Given the description of an element on the screen output the (x, y) to click on. 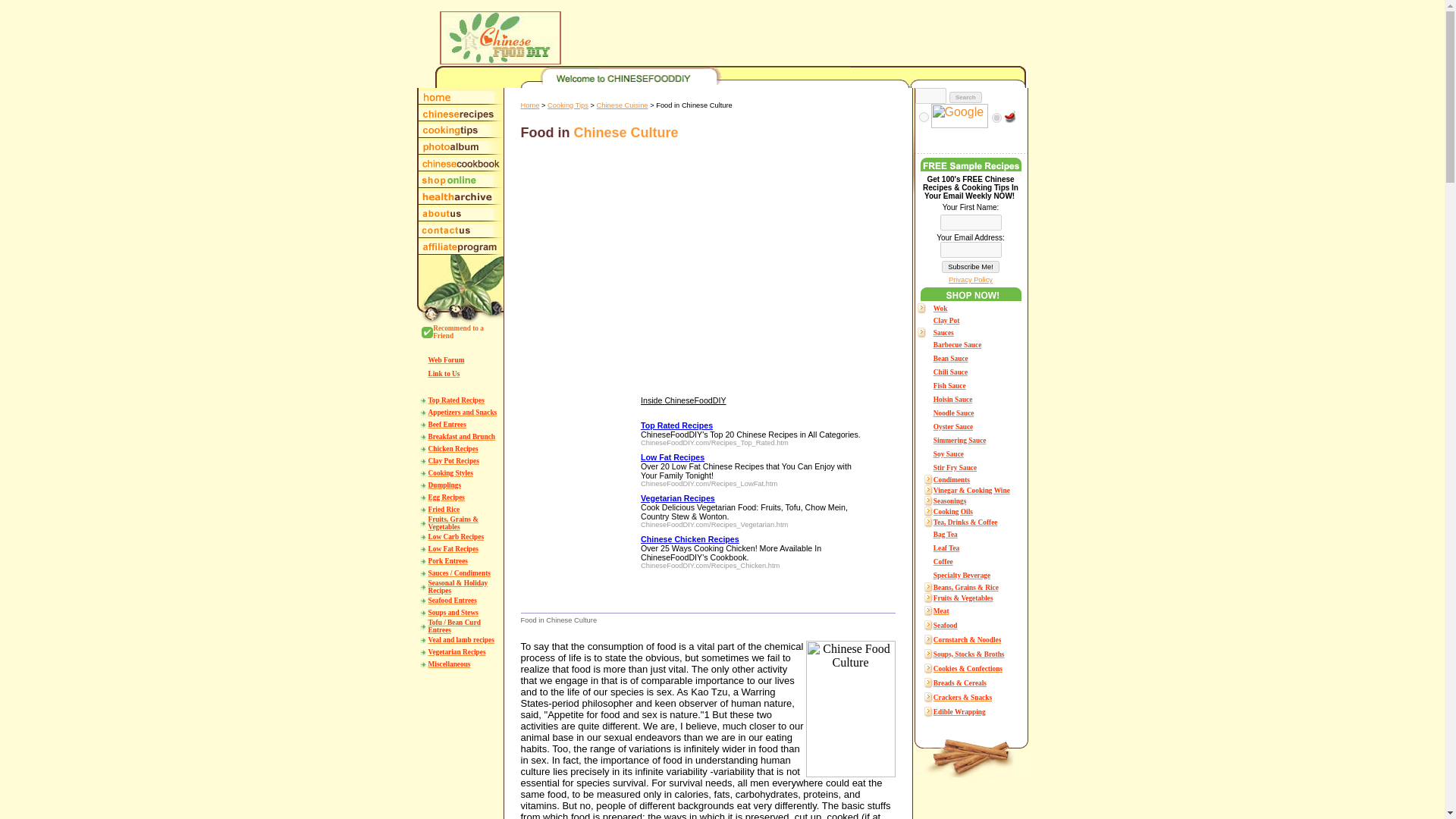
Cooking Tips (567, 103)
Advertisement (767, 501)
Fried Rice (444, 507)
Appetizers and Snacks (462, 410)
Breakfast and Brunch (461, 434)
Vegetarian Recipes (456, 649)
Home (528, 103)
Top Rated Recipes (455, 398)
Miscellaneous (449, 662)
Low Fat Recipes (452, 546)
